Given the description of an element on the screen output the (x, y) to click on. 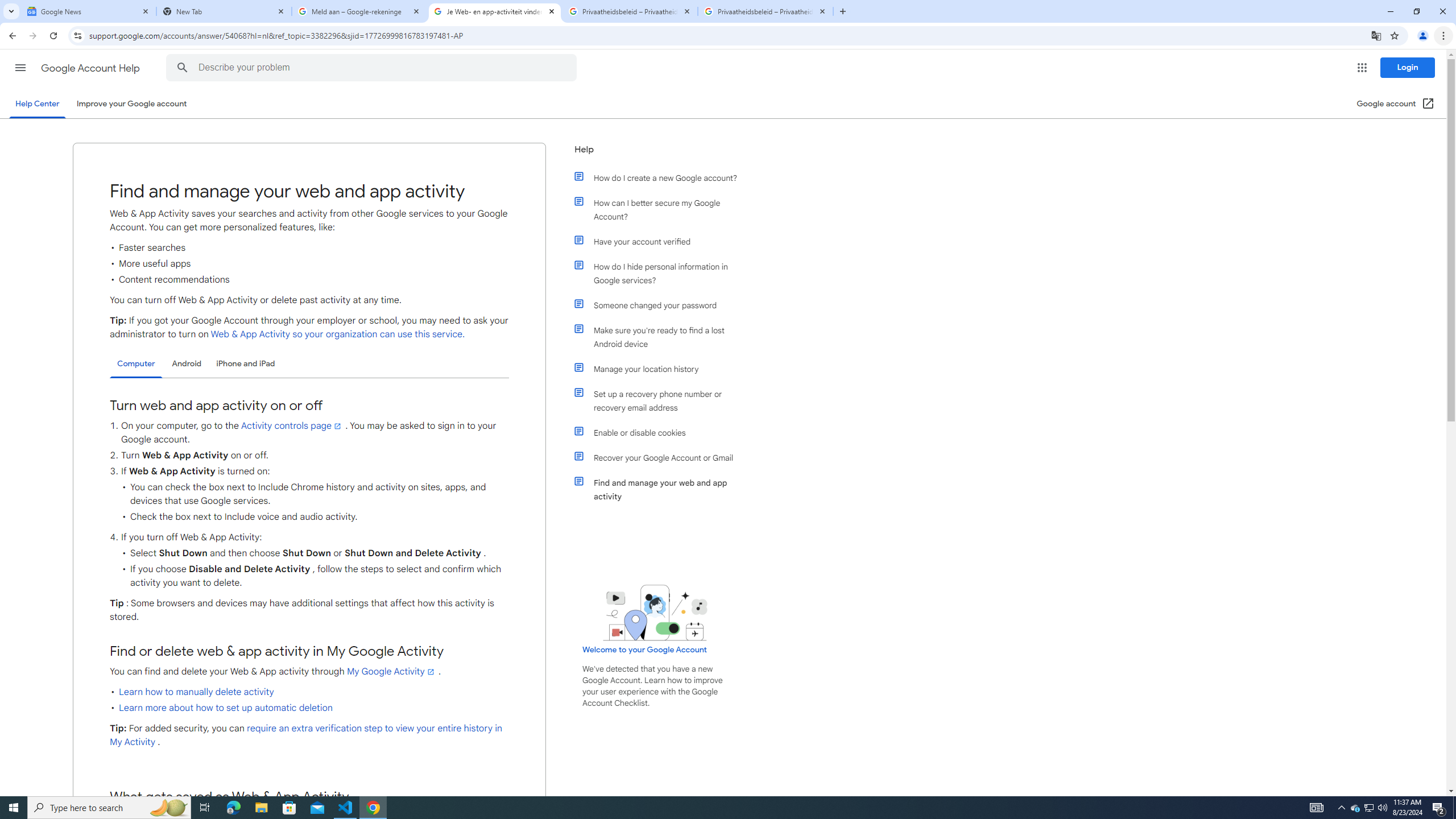
iPhone and iPad (245, 363)
Find and manage your web and app activity (661, 489)
Translate this page (1376, 35)
Learn more about how to set up automatic deletion (226, 708)
Recover your Google Account or Gmail (661, 457)
